Given the description of an element on the screen output the (x, y) to click on. 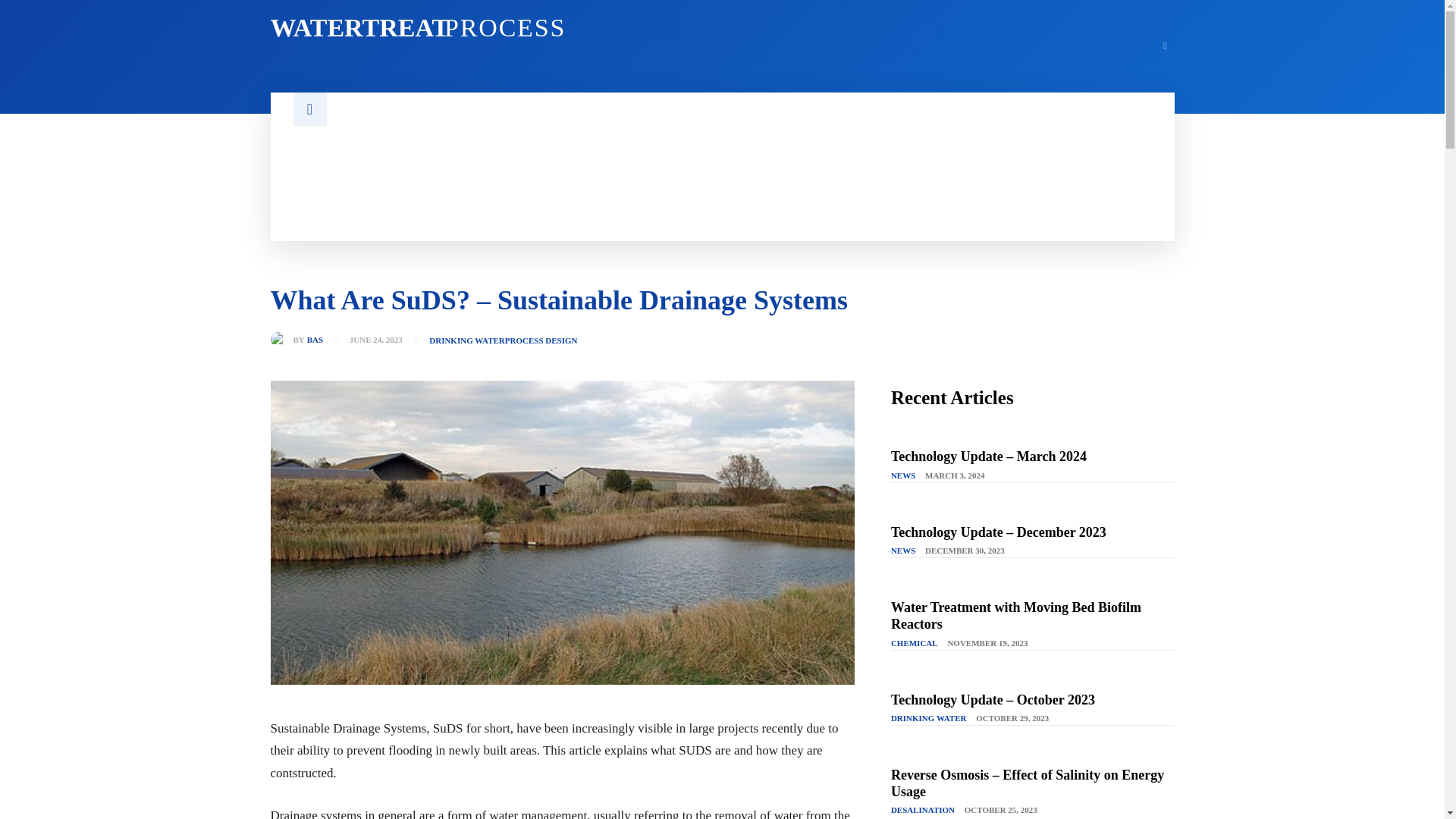
NEWS (903, 476)
NEWS (903, 550)
DRINKING WATER (467, 340)
PROCESS DESIGN (541, 340)
Linkedin (1164, 45)
Water Treatment with Moving Bed Biofilm Reactors (486, 27)
Bas (1016, 615)
BAS (280, 339)
